Given the description of an element on the screen output the (x, y) to click on. 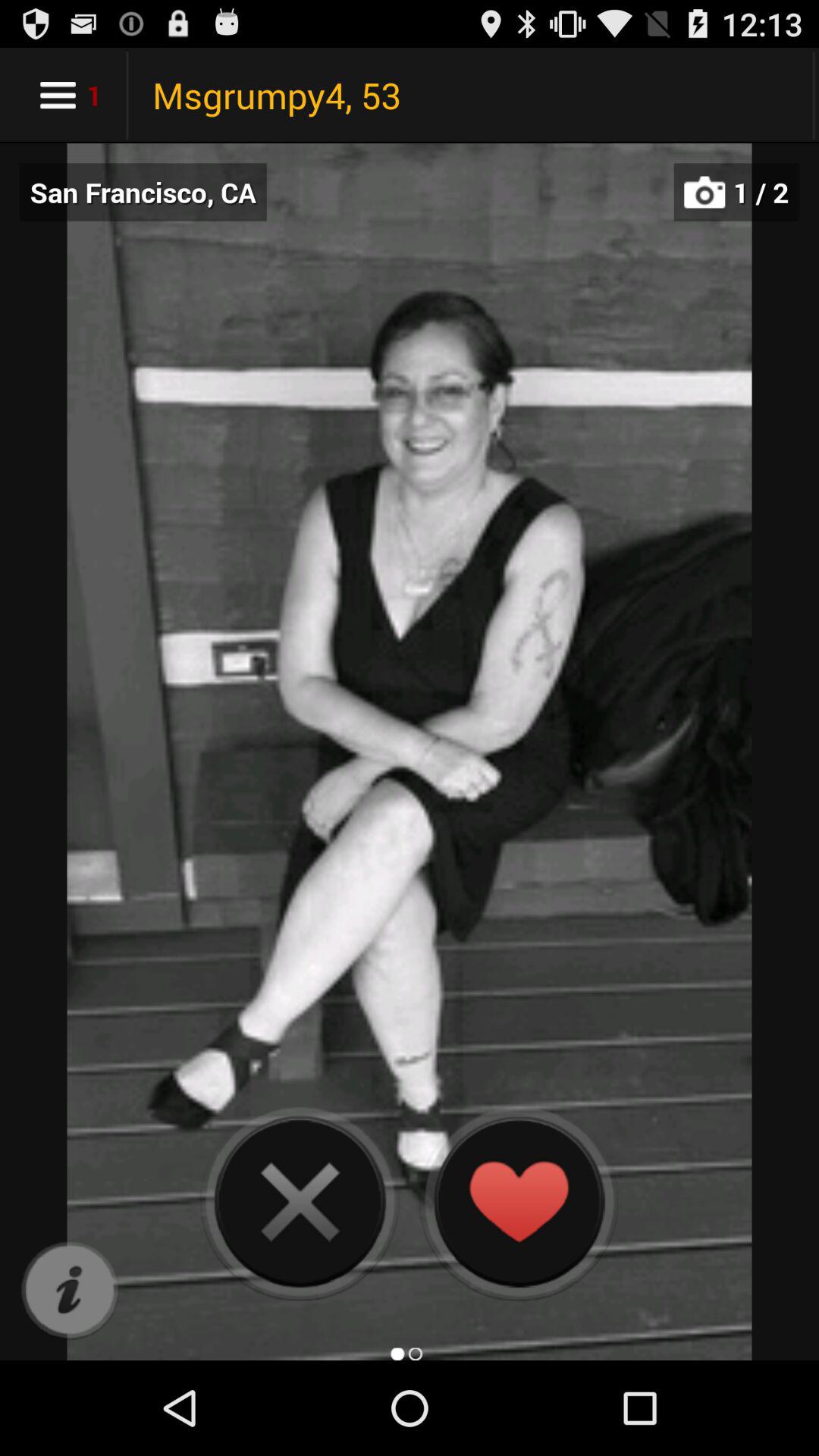
select yes (518, 1200)
